Given the description of an element on the screen output the (x, y) to click on. 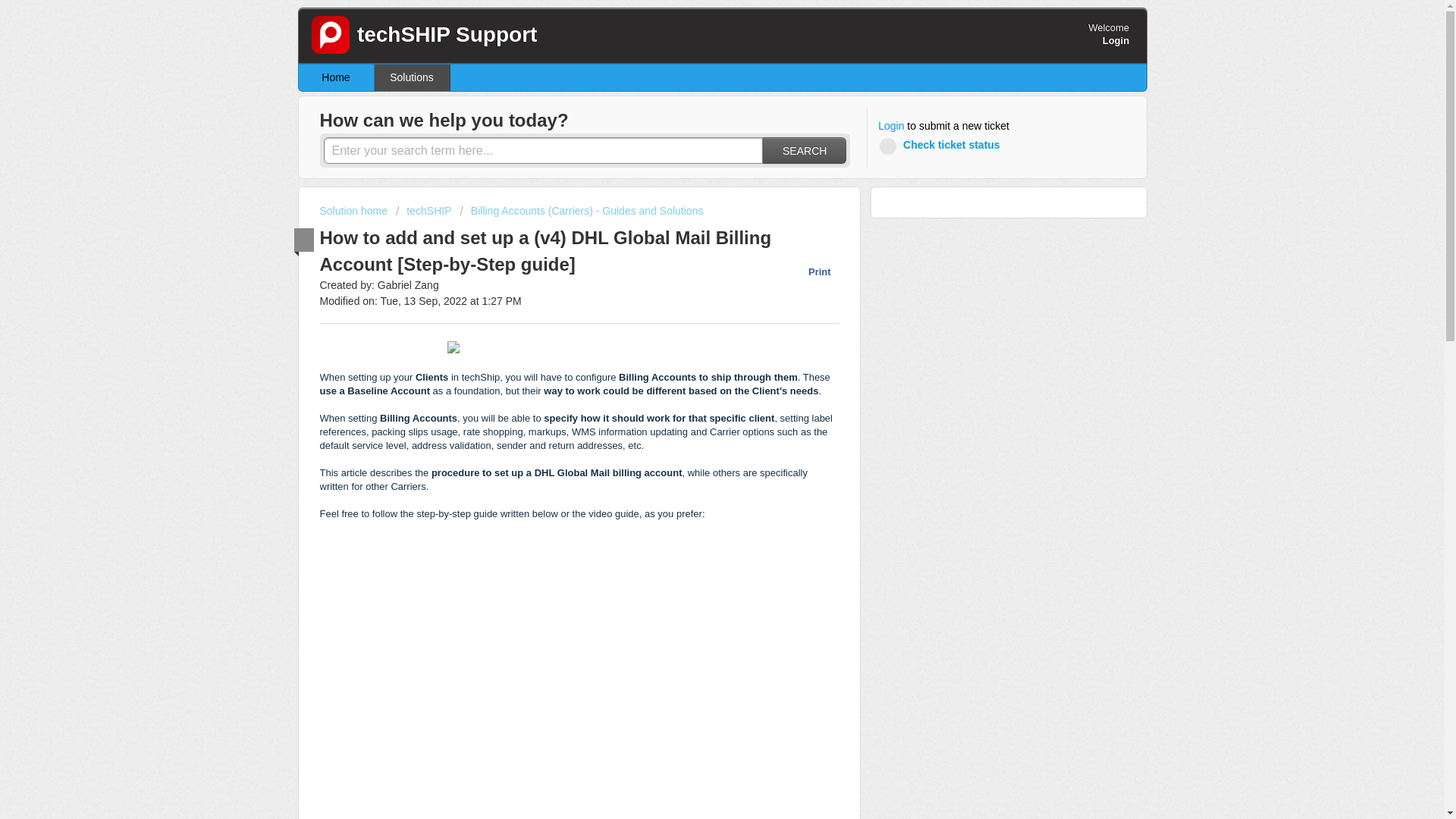
Check ticket status (941, 146)
techSHIP (423, 210)
Solution home (355, 210)
Print (812, 271)
Home (336, 77)
Print this Article (812, 271)
Login (1115, 40)
SEARCH (803, 150)
Login (890, 126)
Solutions (411, 77)
